Given the description of an element on the screen output the (x, y) to click on. 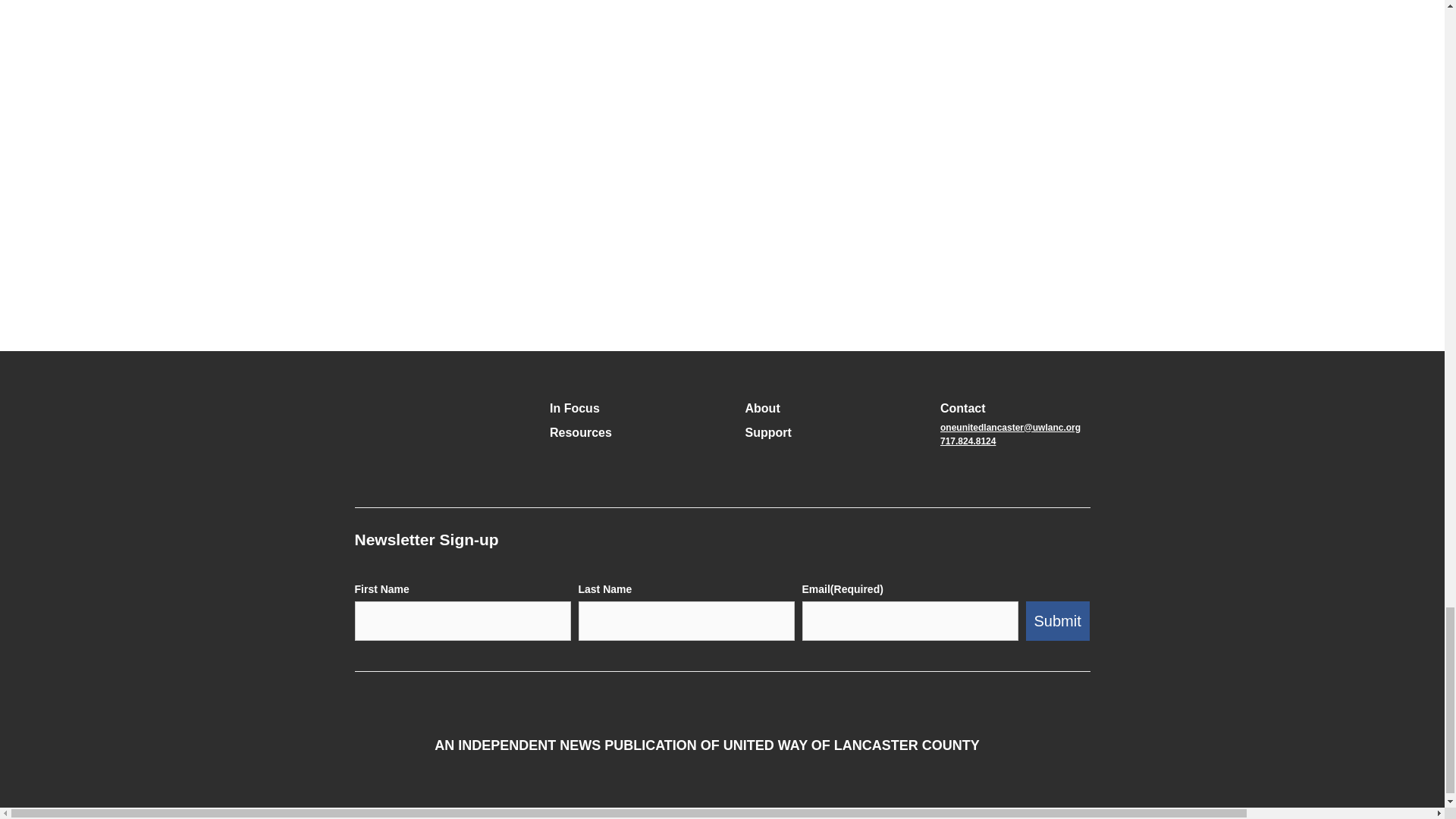
About (761, 408)
Contact (962, 408)
In Focus (574, 408)
Submit (1057, 620)
Support (767, 432)
Resources (580, 432)
